Given the description of an element on the screen output the (x, y) to click on. 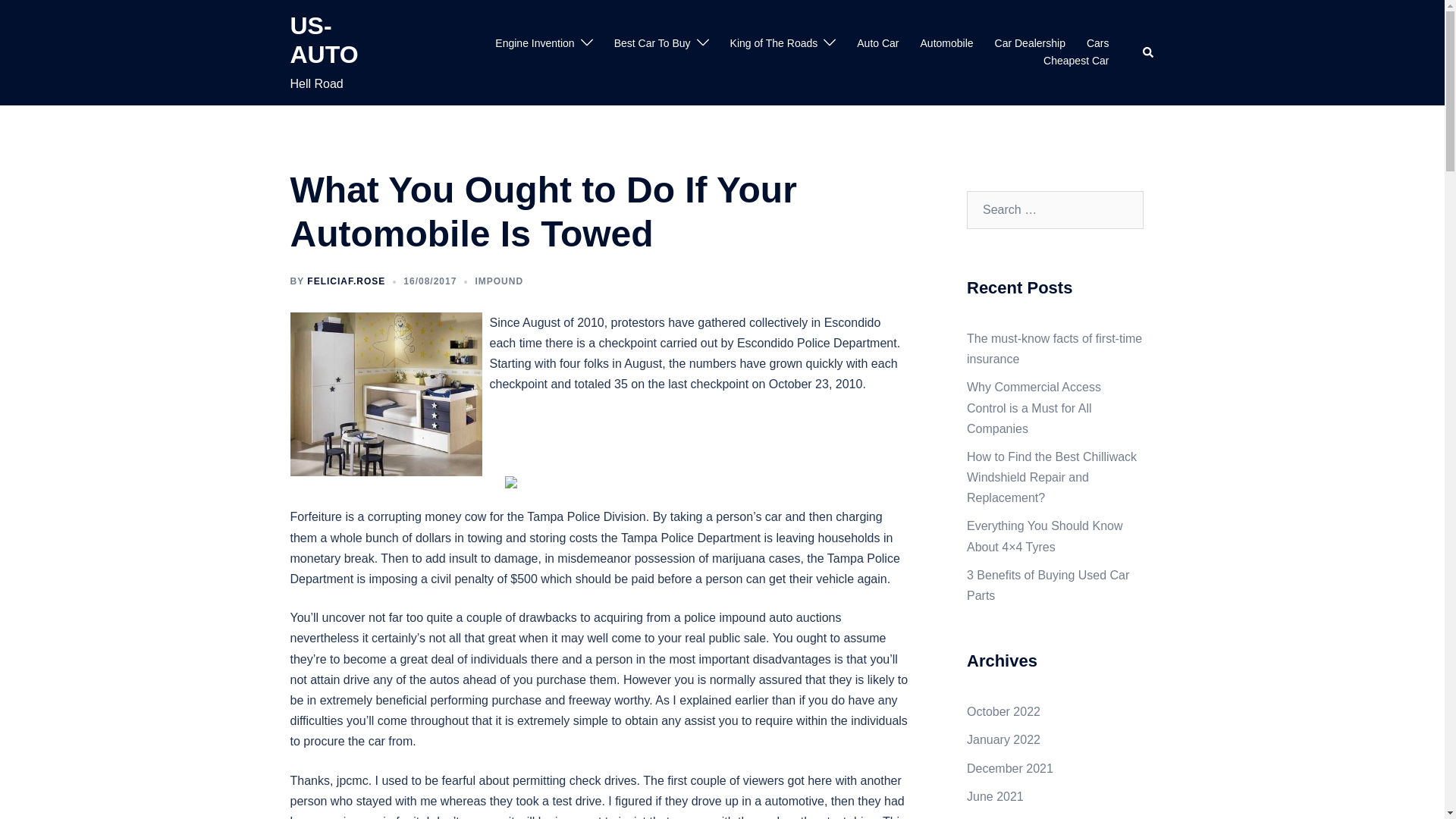
Search (1147, 51)
Car Dealership (1029, 44)
US-AUTO (323, 39)
Automobile (947, 44)
Auto Car (877, 44)
Cheapest Car (1075, 61)
Engine Invention (534, 44)
King of The Roads (774, 44)
Cars (1097, 44)
Best Car To Buy (652, 44)
